Given the description of an element on the screen output the (x, y) to click on. 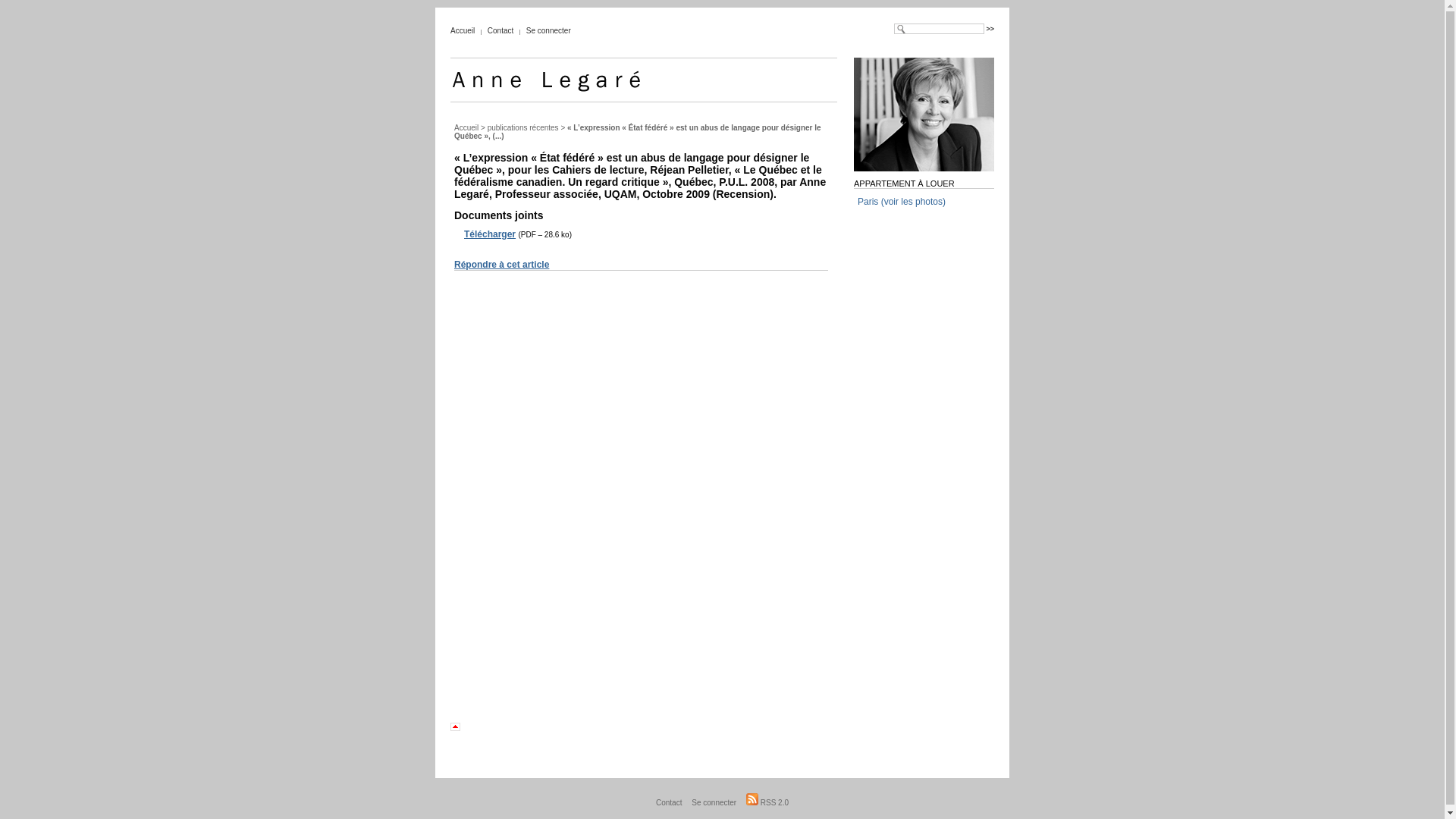
Accueil Element type: text (466, 127)
 RSS 2.0 Element type: text (767, 802)
Contact Element type: text (500, 30)
Se connecter Element type: text (713, 802)
>> Element type: text (989, 28)
Paris (voir les photos) Element type: text (901, 201)
remonter Element type: text (465, 726)
Contact Element type: text (668, 802)
Se connecter Element type: text (548, 30)
Accueil Element type: text (462, 30)
Rechercher Element type: hover (989, 28)
